Given the description of an element on the screen output the (x, y) to click on. 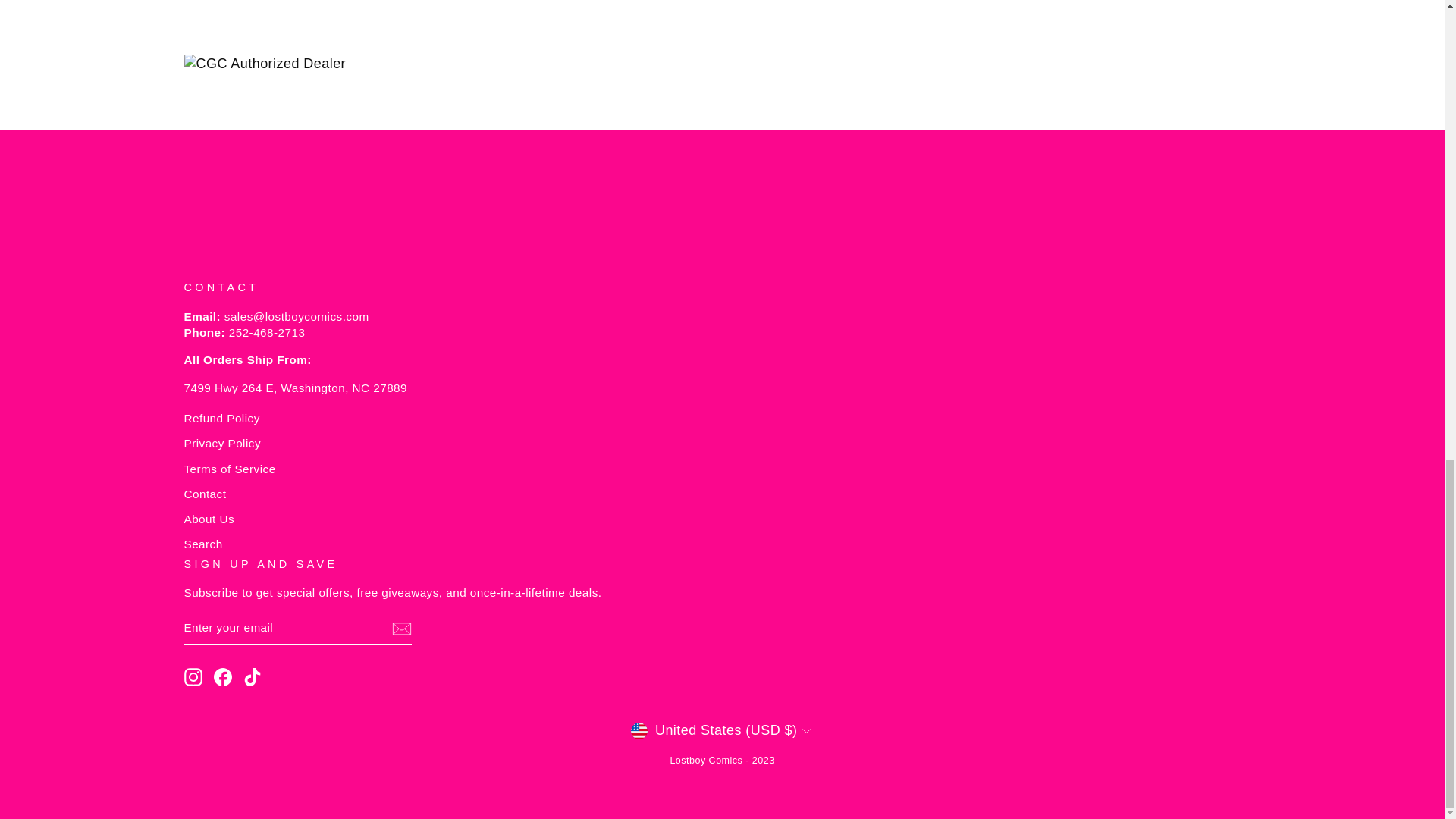
CGC Authorized Dealer (721, 63)
instagram (192, 677)
Lostboy Comics on Facebook (222, 677)
icon-email (400, 628)
Lostboy Comics on TikTok (251, 677)
Lostboy Comics on Instagram (192, 677)
